Given the description of an element on the screen output the (x, y) to click on. 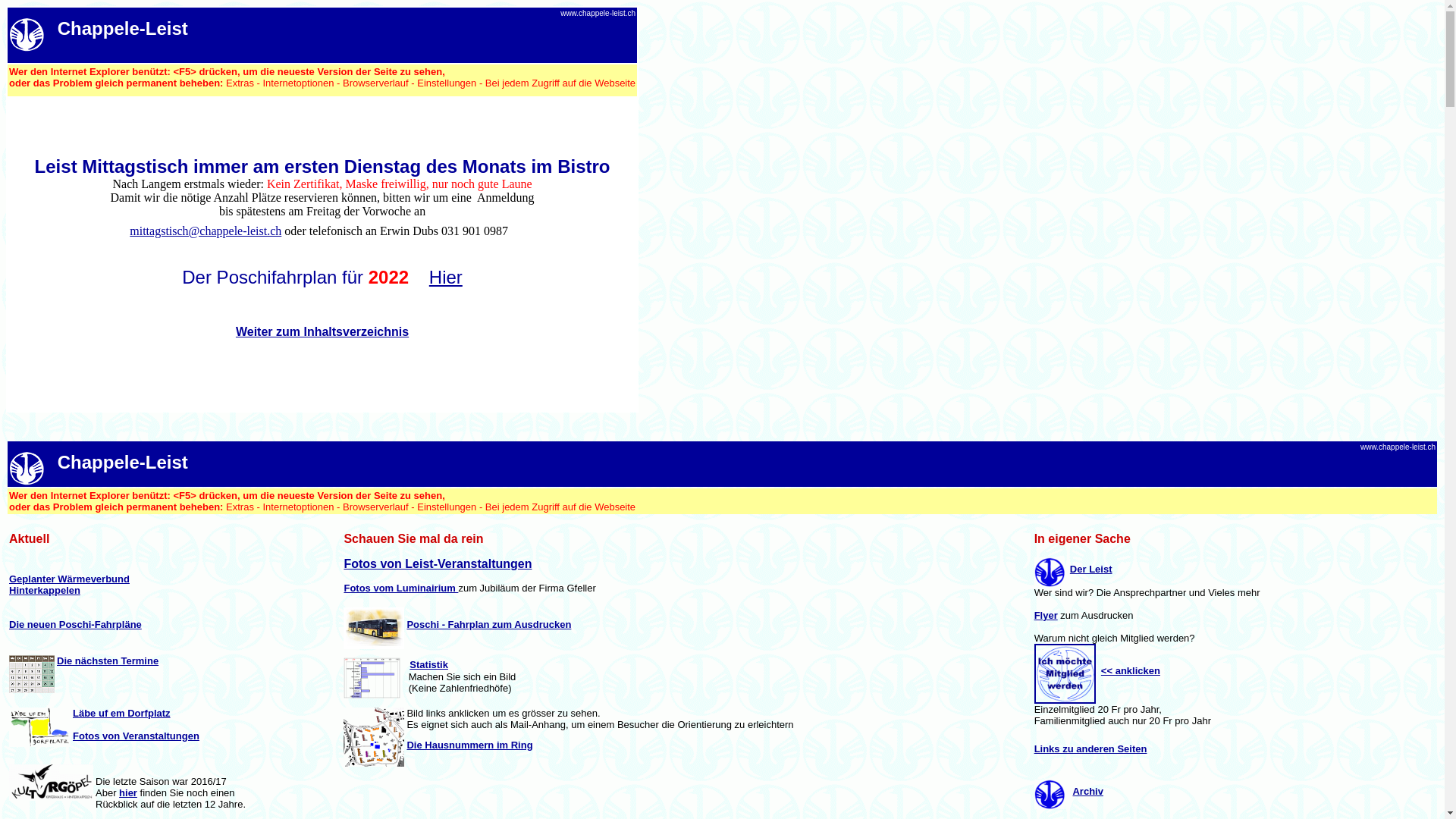
Fotos von Leist-Veranstaltungen Element type: text (437, 563)
Flyer Element type: text (1045, 615)
Archiv Element type: text (1087, 791)
Fotos von Veranstaltungen Element type: text (135, 735)
Fotos vom Luminairium Element type: text (400, 587)
hier Element type: text (128, 792)
Links zu anderen Seiten Element type: text (1090, 748)
Poschi - Fahrplan zum Ausdrucken Element type: text (488, 624)
Weiter zum Inhaltsverzeichnis Element type: text (321, 331)
Hier Element type: text (445, 276)
Statistik Element type: text (428, 664)
mittagstisch@chappele-leist.ch Element type: text (205, 230)
<< anklicken Element type: text (1130, 669)
Die Hausnummern im Ring Element type: text (469, 744)
Hinterkappelen Element type: text (44, 590)
Der Leist Element type: text (1091, 568)
